Given the description of an element on the screen output the (x, y) to click on. 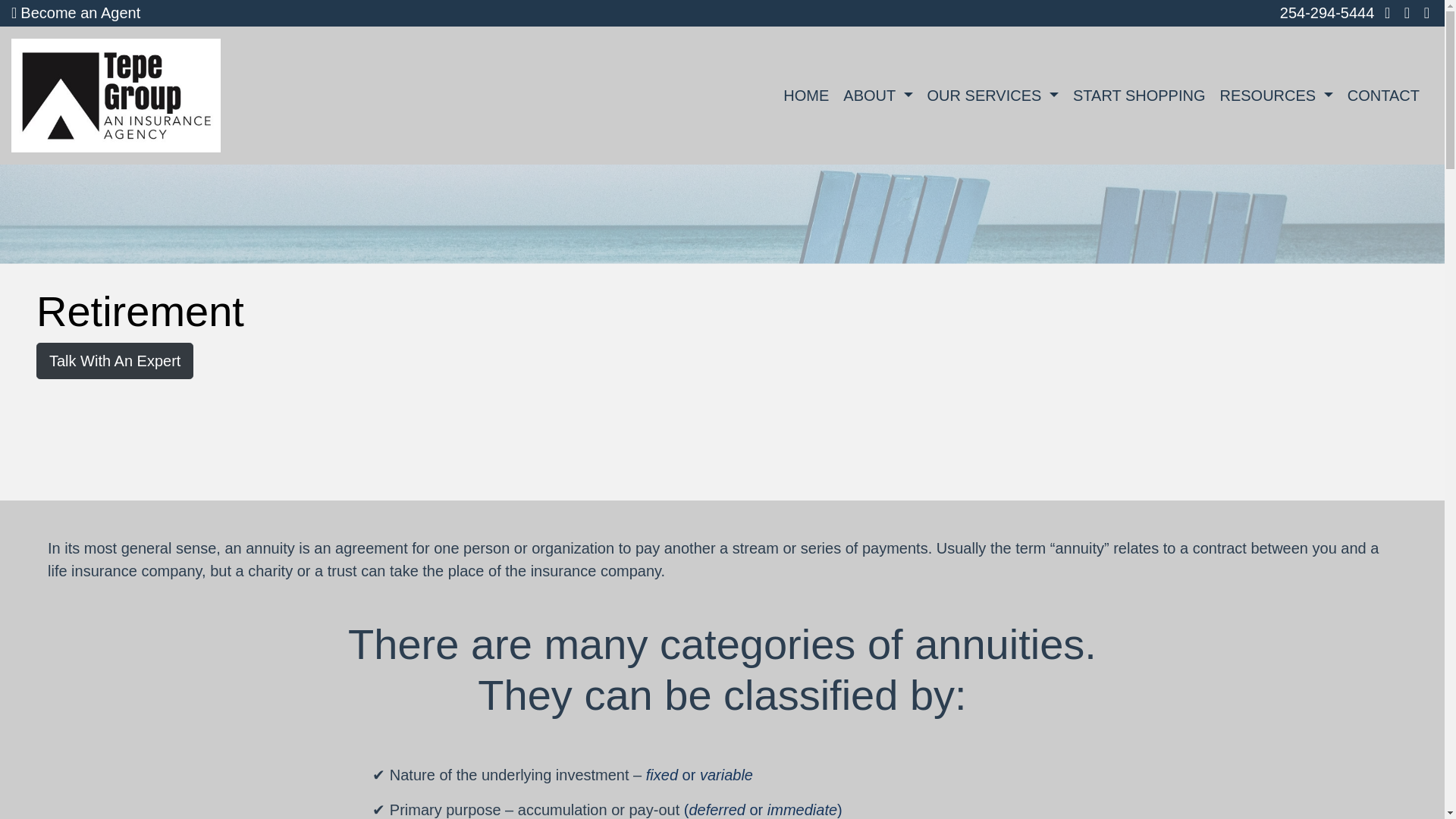
254-294-5444 (1326, 12)
 Become an Agent (75, 12)
HOME (805, 95)
START SHOPPING (1139, 95)
OUR SERVICES (992, 95)
Insurance Professionals (75, 12)
RESOURCES (1275, 95)
Tepe Group (116, 87)
ABOUT (877, 95)
